Given the description of an element on the screen output the (x, y) to click on. 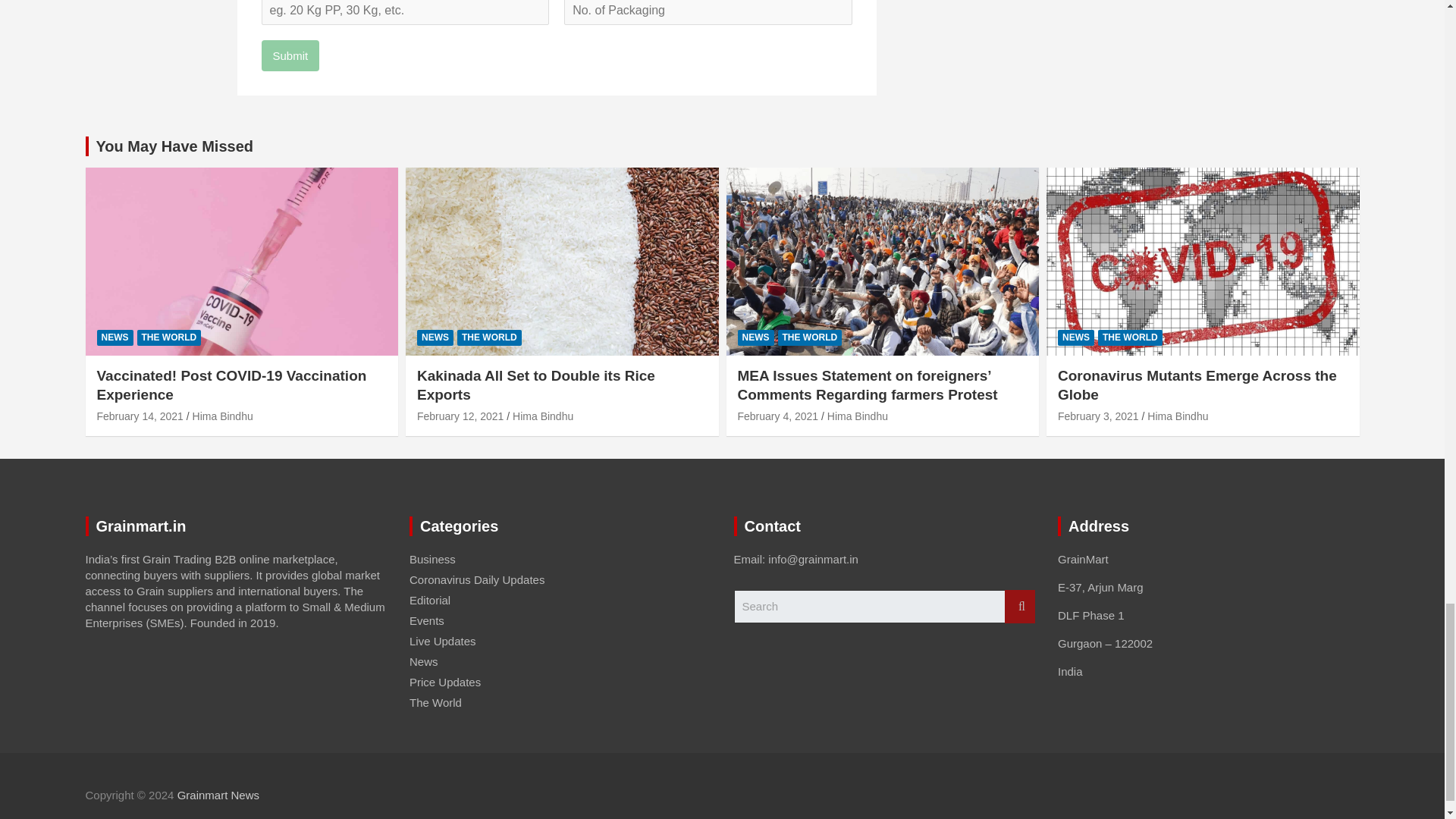
Vaccinated! Post COVID-19 Vaccination Experience (140, 416)
Kakinada All Set to Double its Rice Exports (459, 416)
Coronavirus Mutants Emerge Across the Globe (1098, 416)
